Given the description of an element on the screen output the (x, y) to click on. 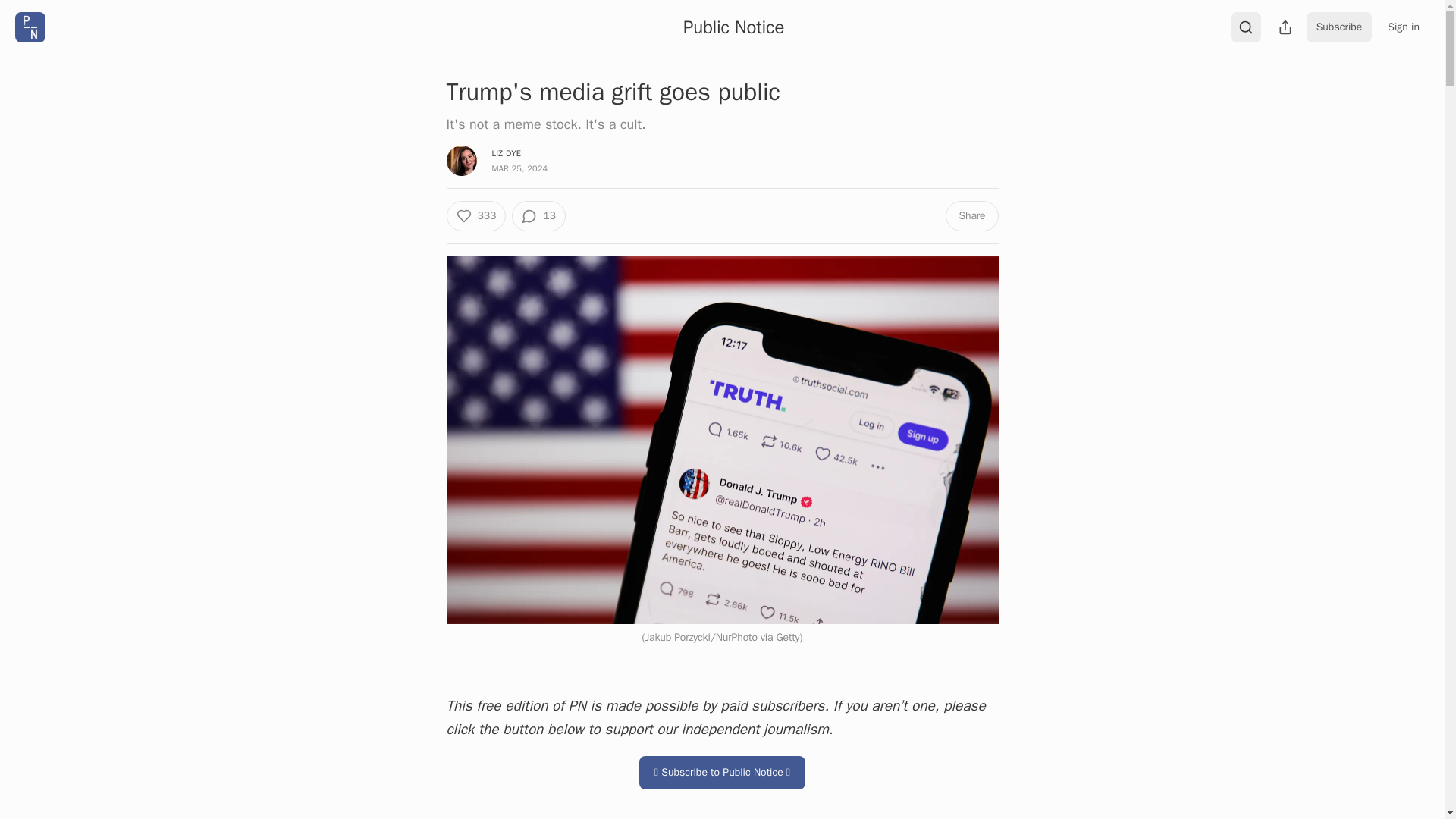
Share (970, 215)
Public Notice (733, 26)
13 (539, 215)
Subscribe (1339, 27)
LIZ DYE (506, 153)
Sign in (1403, 27)
333 (475, 215)
